Given the description of an element on the screen output the (x, y) to click on. 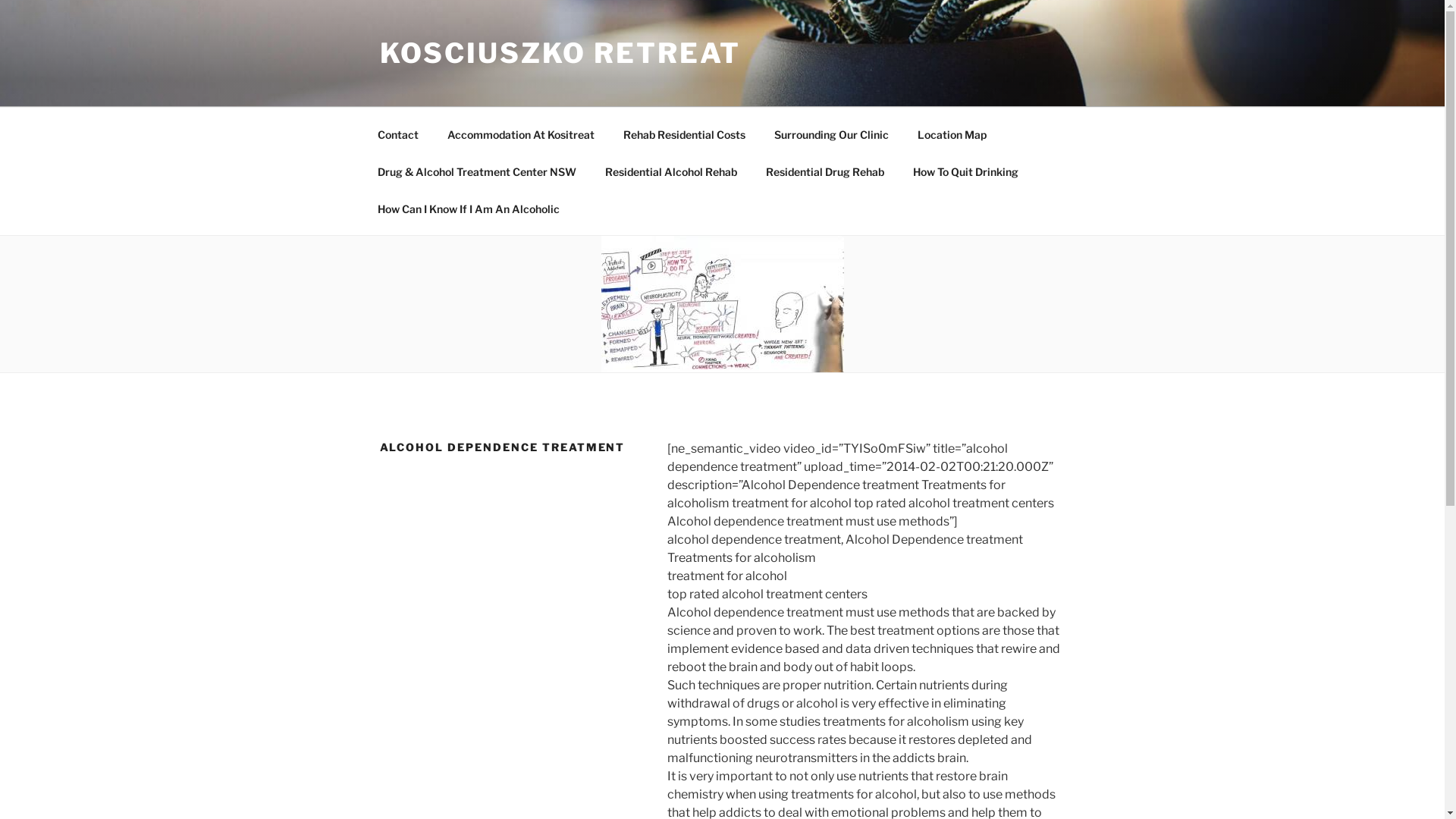
Location Map Element type: text (951, 133)
Drug & Alcohol Treatment Center NSW Element type: text (476, 171)
KOSCIUSZKO RETREAT Element type: text (559, 52)
How Can I Know If I Am An Alcoholic Element type: text (468, 207)
Surrounding Our Clinic Element type: text (831, 133)
Residential Drug Rehab Element type: text (824, 171)
Accommodation At Kositreat Element type: text (520, 133)
Residential Alcohol Rehab Element type: text (670, 171)
Contact Element type: text (397, 133)
Rehab Residential Costs Element type: text (683, 133)
How To Quit Drinking Element type: text (965, 171)
